Given the description of an element on the screen output the (x, y) to click on. 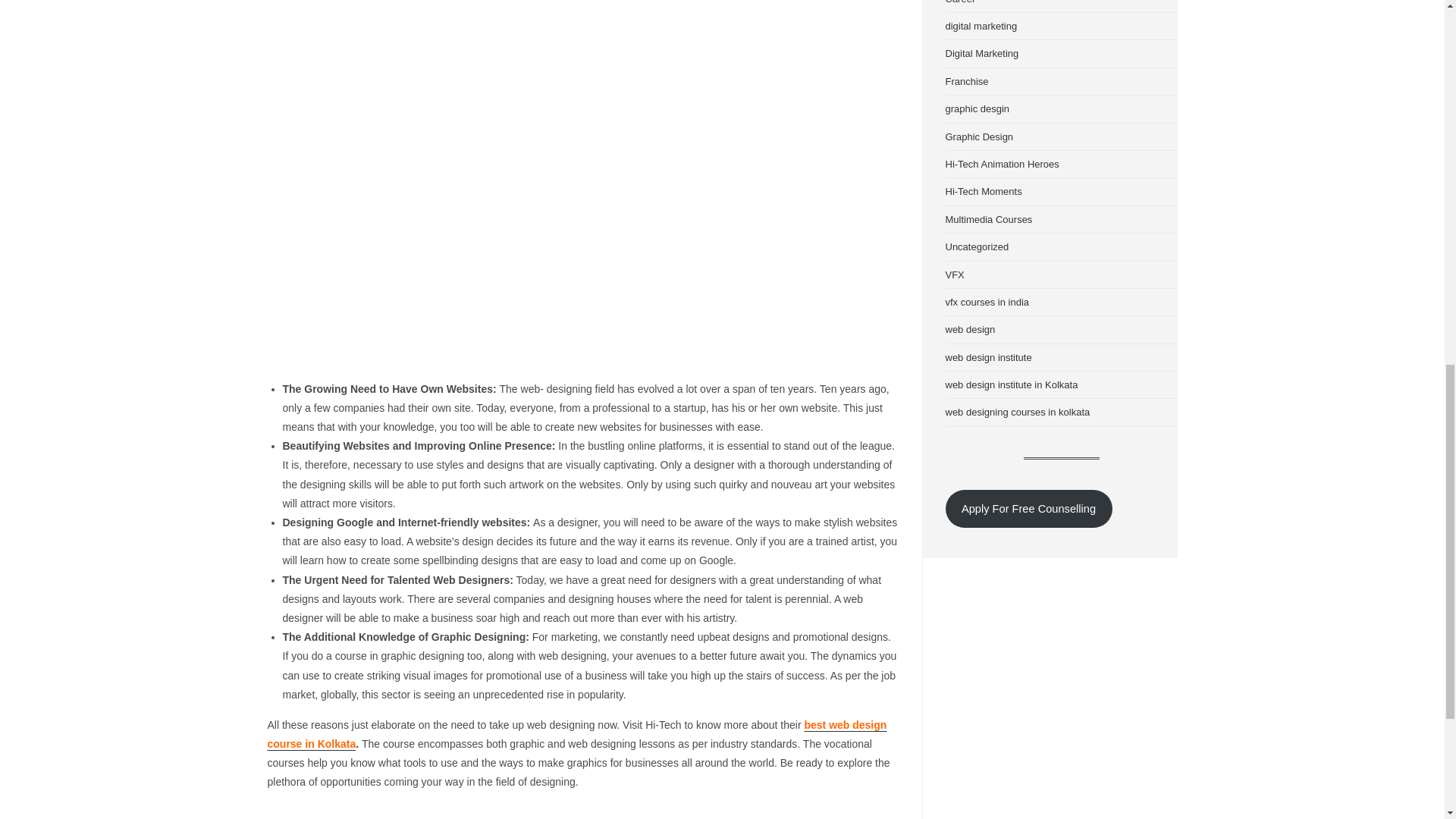
best web design course in Kolkata (576, 734)
GRAPHIC DESIGNING (652, 818)
CAREER IN GRAPHIC DESIGNING (536, 818)
